Given the description of an element on the screen output the (x, y) to click on. 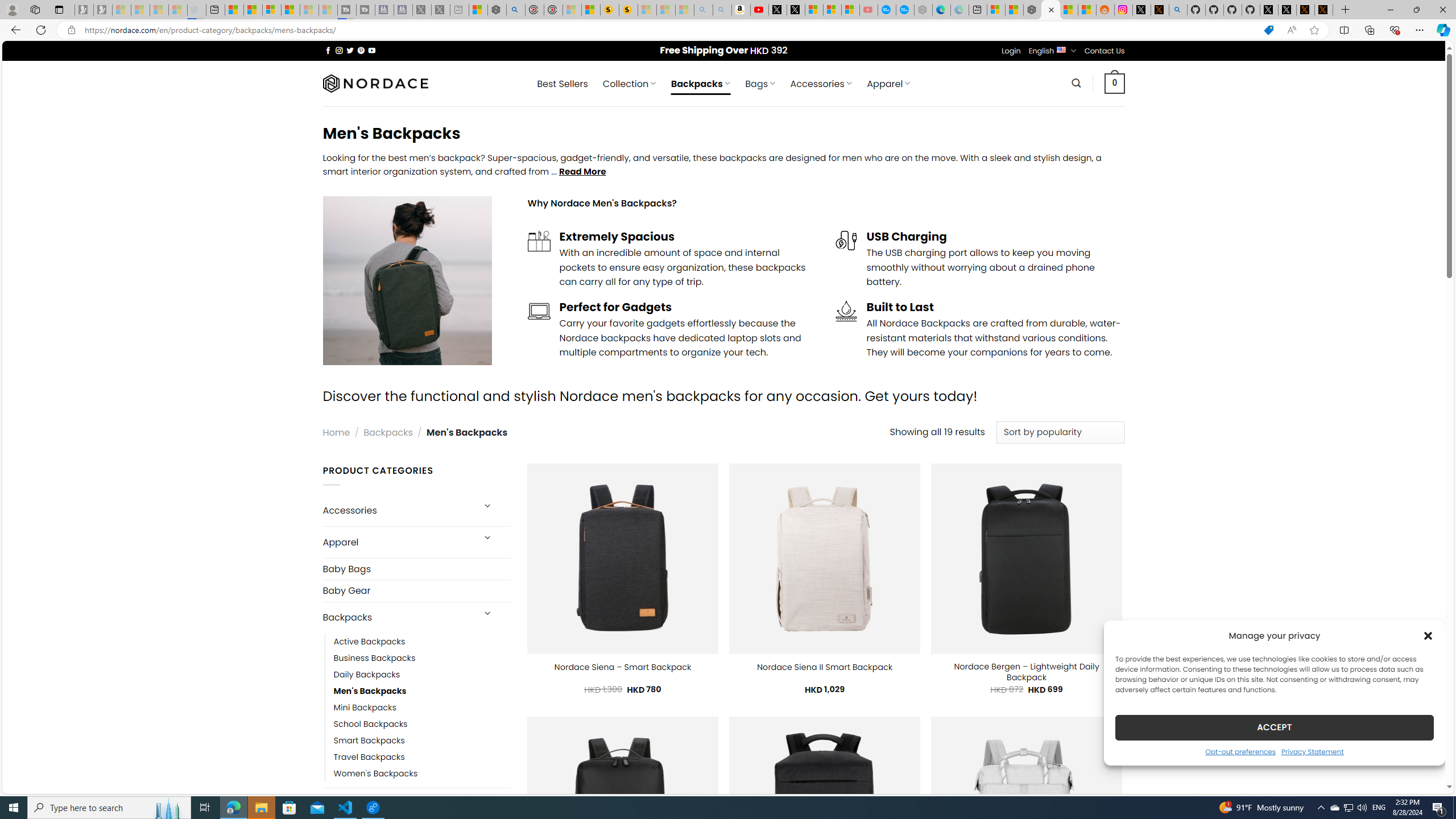
X - Sleeping (440, 9)
Nordace - Best Sellers (1032, 9)
School Backpacks (422, 723)
Contact Us (1104, 50)
Women's Backpacks (422, 773)
Newsletter Sign Up - Sleeping (102, 9)
  Best Sellers (562, 83)
